Given the description of an element on the screen output the (x, y) to click on. 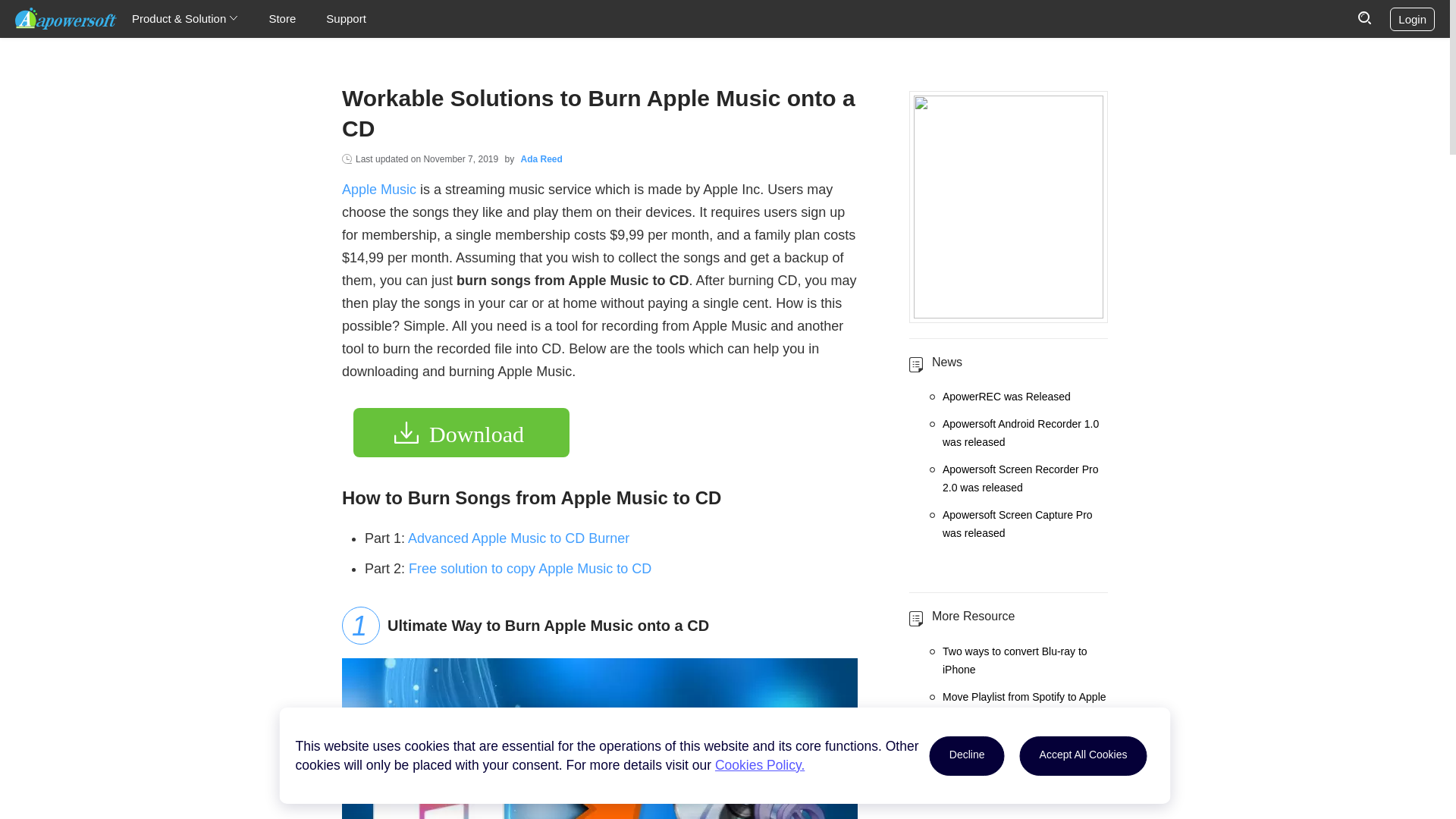
Apowersoft (65, 18)
Ada Reed (540, 158)
Support (346, 18)
Store (281, 18)
